Given the description of an element on the screen output the (x, y) to click on. 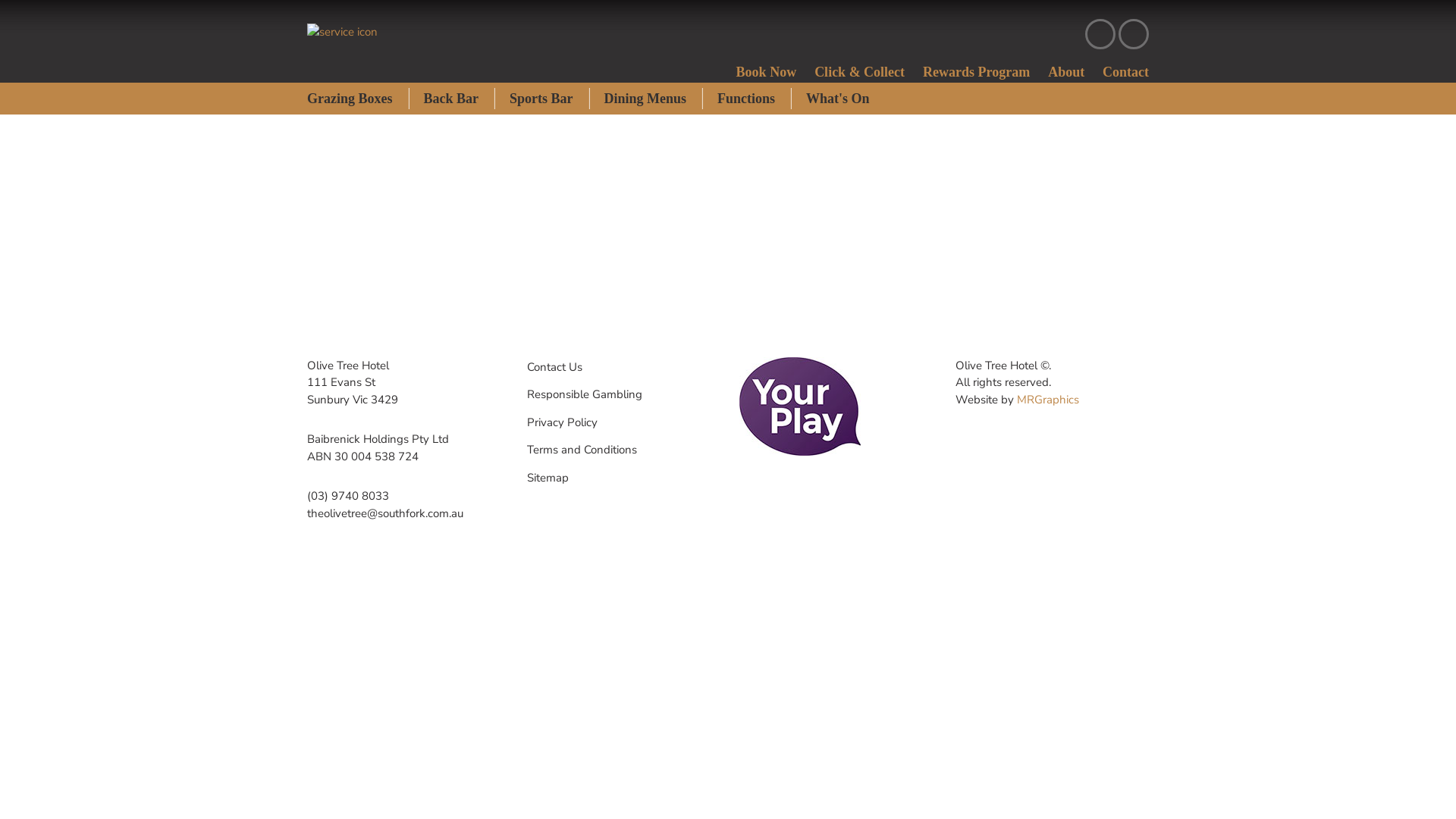
Click & Collect Element type: text (859, 70)
Contact Us Element type: text (554, 366)
Functions Element type: text (746, 98)
MRGraphics Element type: text (1047, 398)
Sitemap Element type: text (547, 477)
Dining Menus Element type: text (645, 98)
Responsible Gambling Element type: text (584, 394)
Terms and Conditions Element type: text (582, 449)
Grazing Boxes Element type: text (357, 98)
What's On Element type: text (837, 98)
Contact Element type: text (1125, 70)
Sports Bar Element type: text (541, 98)
Book Now Element type: text (766, 70)
Privacy Policy Element type: text (562, 422)
Back Bar Element type: text (450, 98)
About Element type: text (1066, 70)
Rewards Program Element type: text (975, 70)
